Given the description of an element on the screen output the (x, y) to click on. 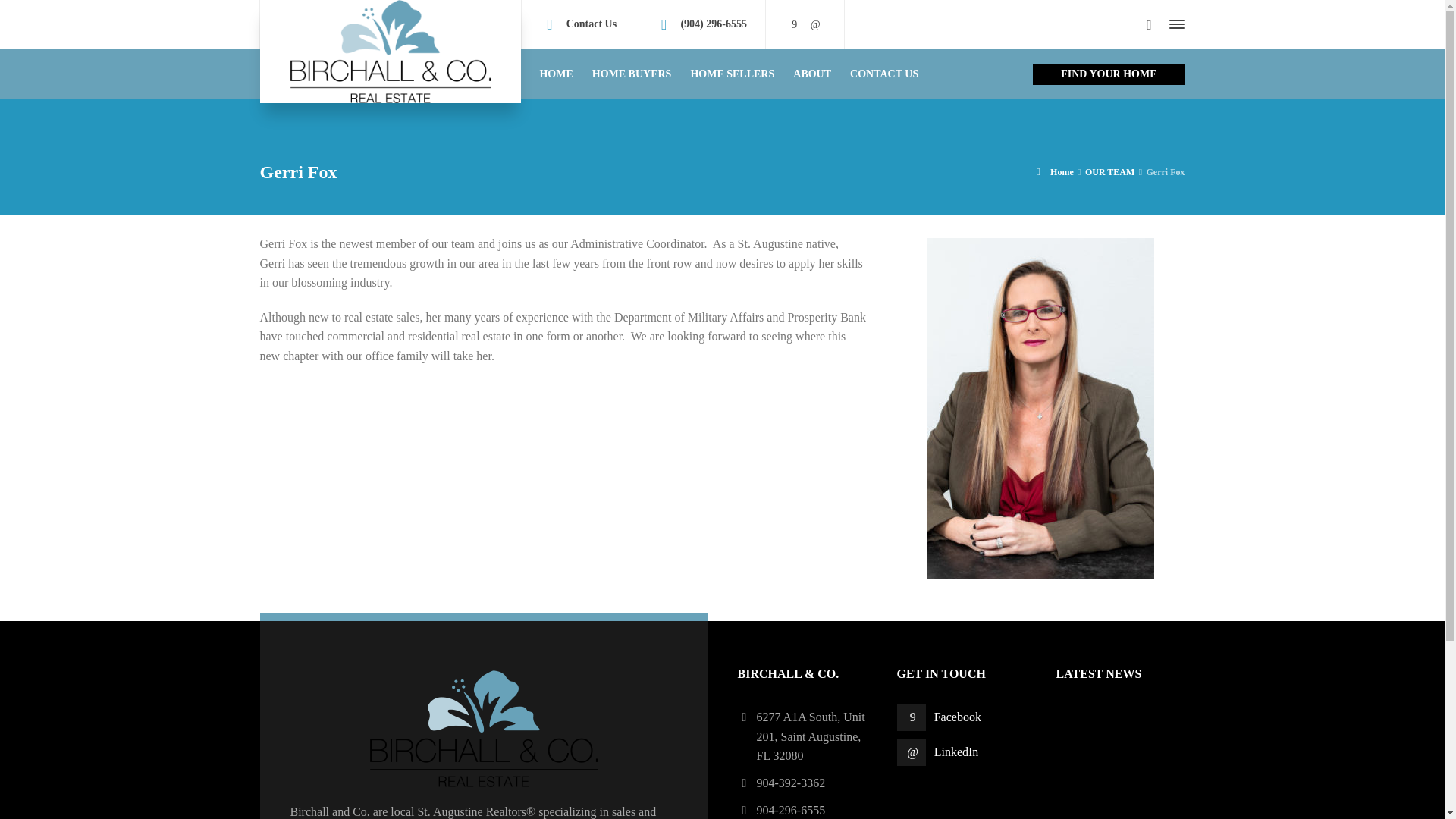
LinkedIn (942, 751)
Facebook (942, 717)
Linkedin (815, 24)
Linkedin (942, 751)
FIND YOUR HOME (1108, 74)
Facebook (794, 24)
click to call (712, 23)
HOME BUYERS (632, 73)
OUR TEAM (1109, 172)
FIND YOUR HOME (1108, 74)
